Given the description of an element on the screen output the (x, y) to click on. 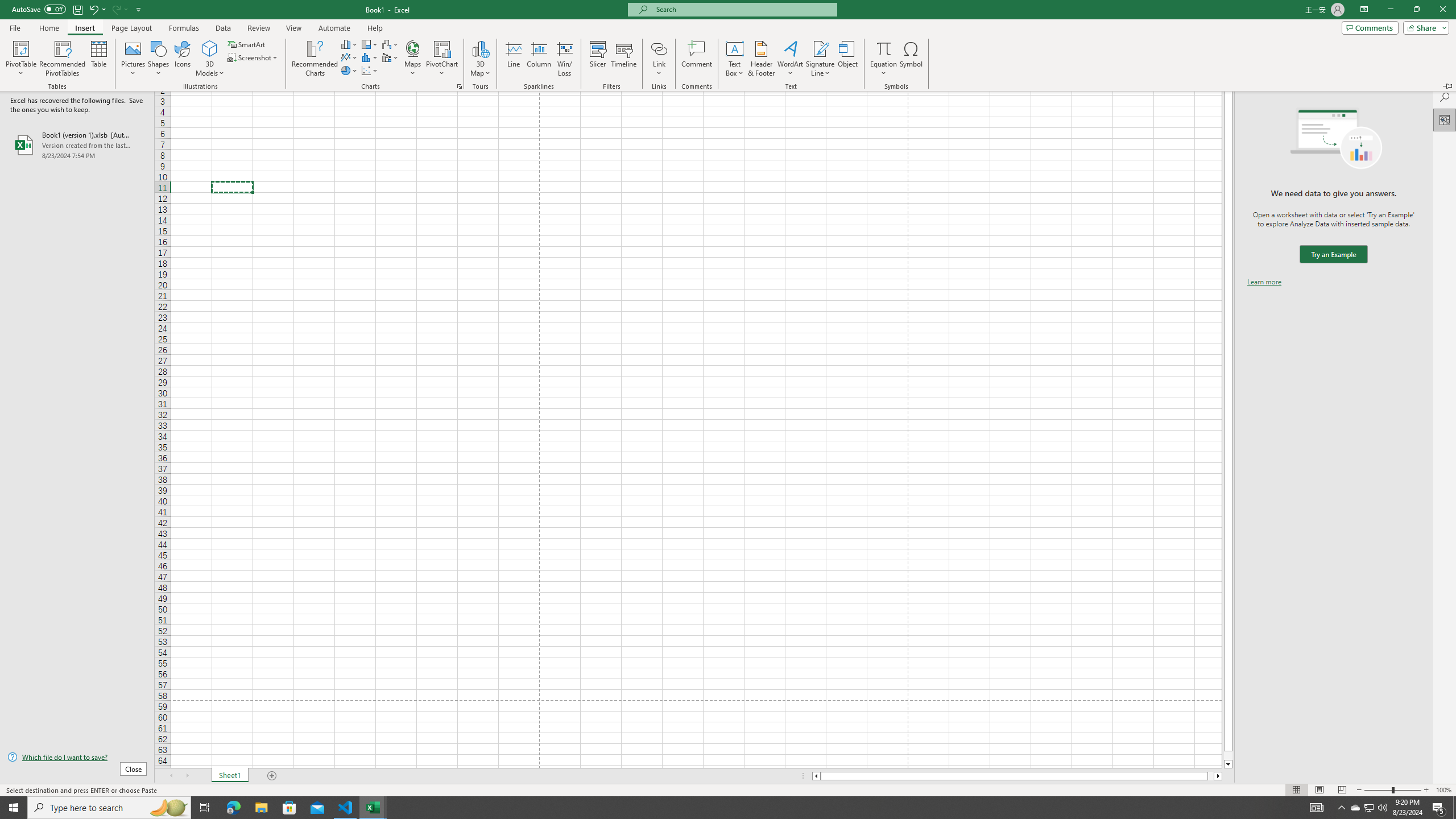
Insert (83, 28)
Column right (1218, 775)
Zoom In (1426, 790)
Page Break Preview (1342, 790)
Microsoft Store (289, 807)
Save (77, 9)
Home (48, 28)
Quick Access Toolbar (77, 9)
Class: NetUIScrollBar (1016, 775)
Type here to search (108, 807)
AutoSave (38, 9)
Comments (1369, 27)
